Given the description of an element on the screen output the (x, y) to click on. 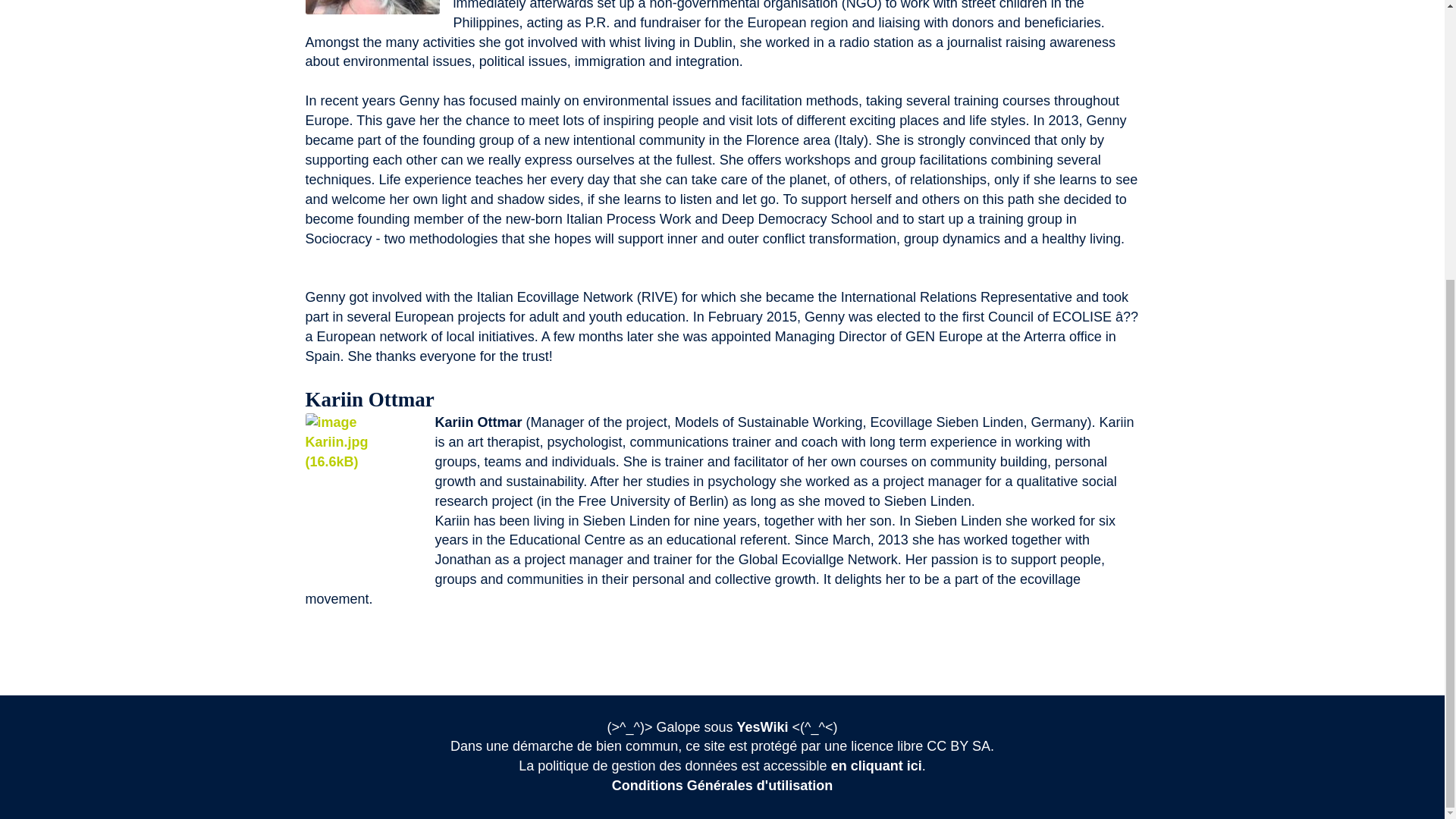
doryphore 4.4.2 (762, 726)
en cliquant ici (876, 765)
YesWiki (762, 726)
